Given the description of an element on the screen output the (x, y) to click on. 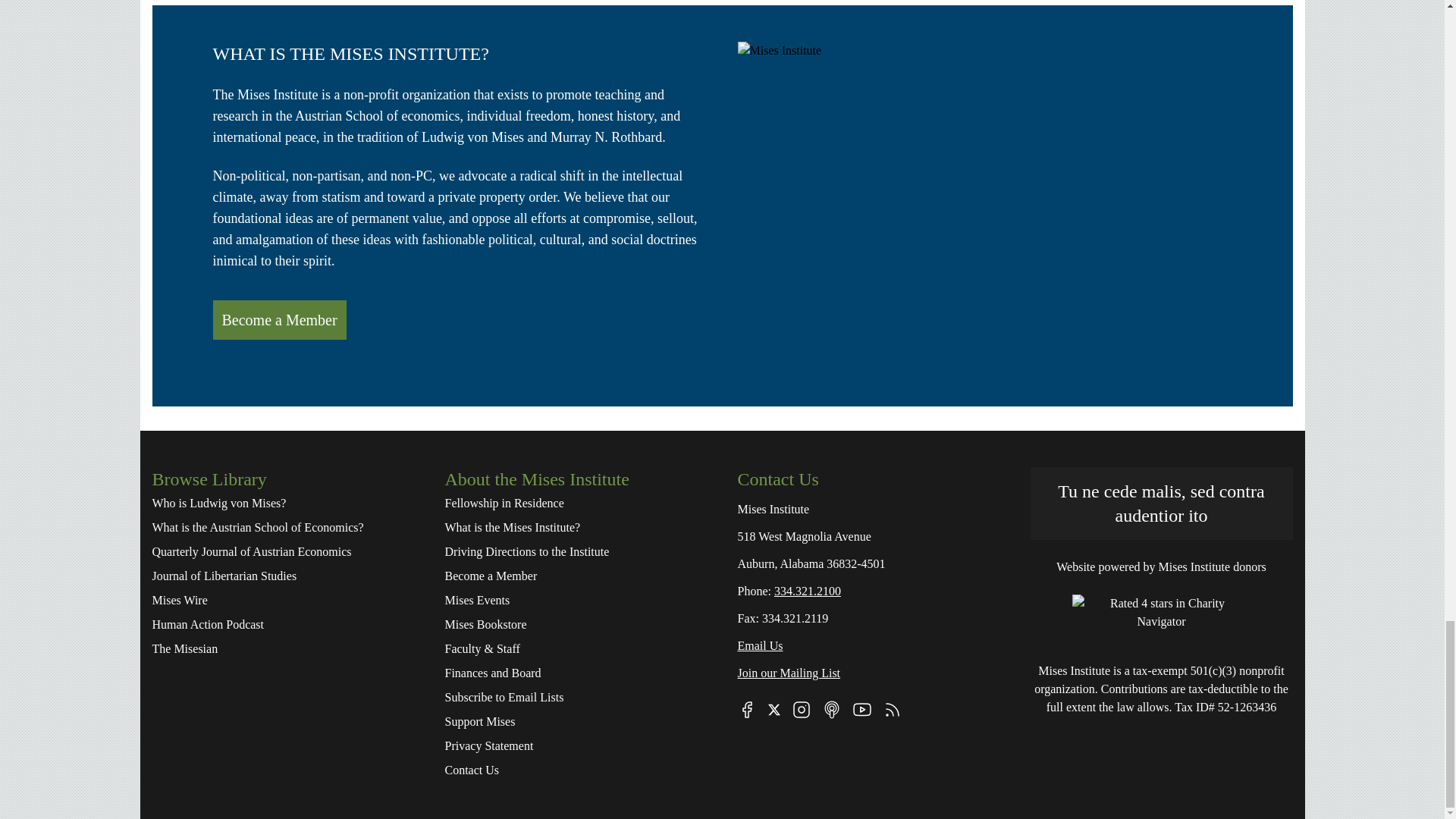
The Misesian (282, 648)
